Given the description of an element on the screen output the (x, y) to click on. 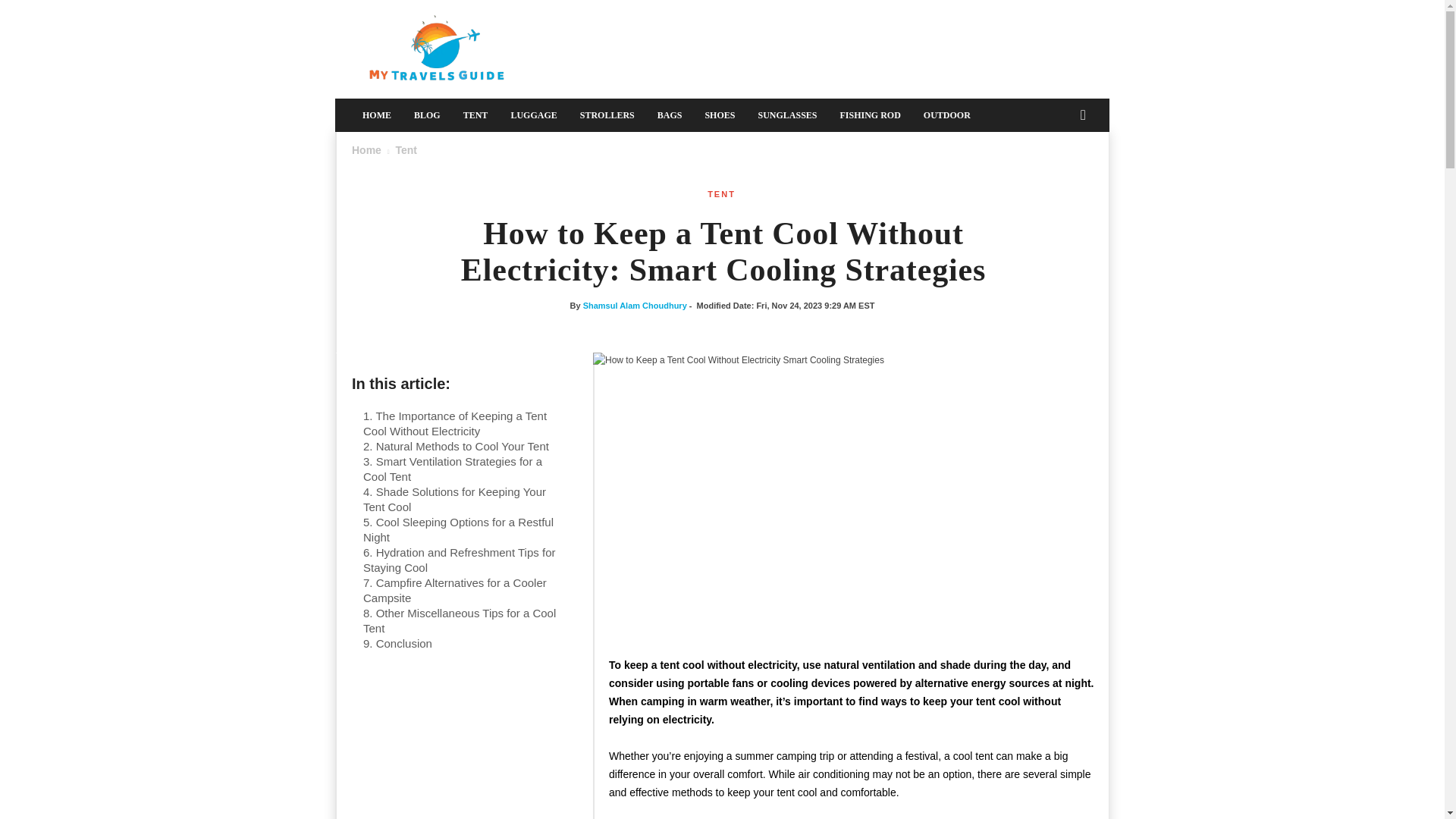
TENT (475, 114)
SUNGLASSES (786, 114)
LUGGAGE (533, 114)
TENT (721, 194)
HOME (376, 114)
SHOES (719, 114)
Home (366, 150)
STROLLERS (607, 114)
BLOG (427, 114)
MyTravelsGuide (437, 48)
BAGS (670, 114)
Shamsul Alam Choudhury (635, 305)
FISHING ROD (870, 114)
OUTDOOR (946, 114)
